Given the description of an element on the screen output the (x, y) to click on. 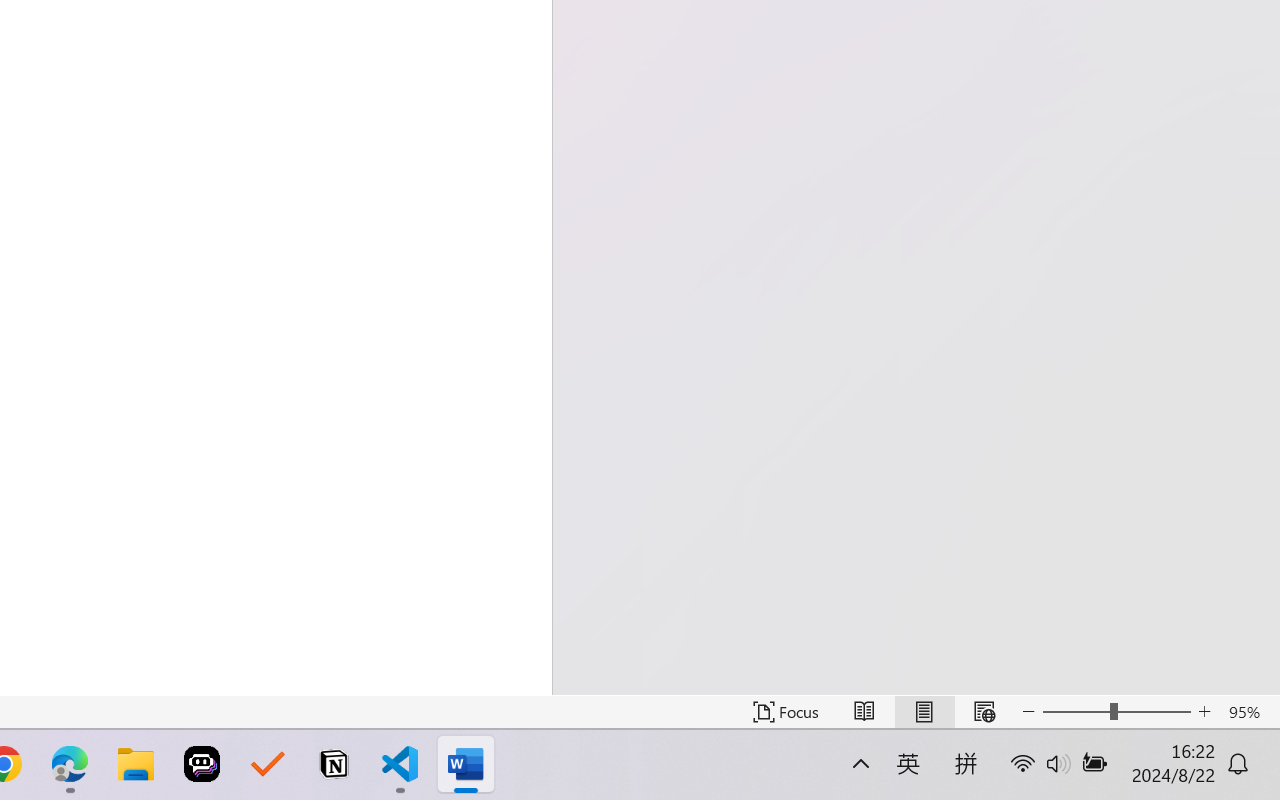
Zoom 95% (1249, 712)
